Given the description of an element on the screen output the (x, y) to click on. 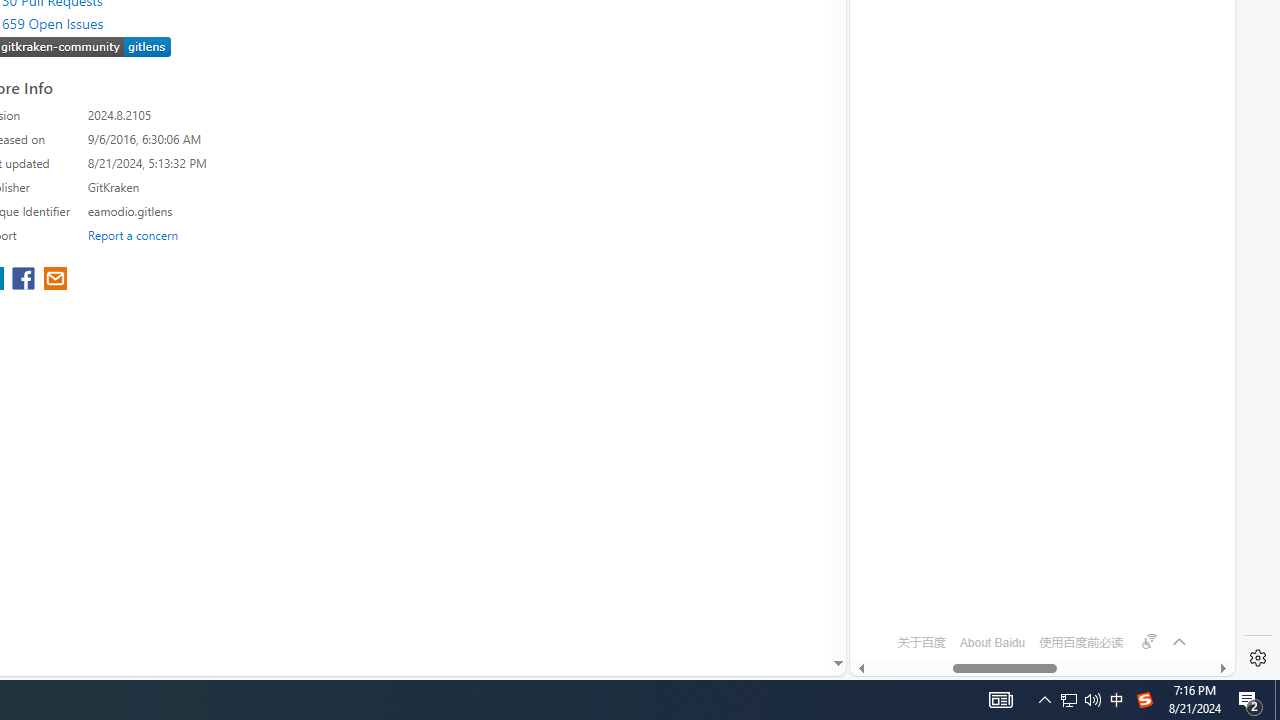
OFTV - Enjoy videos from your favorite OF creators! (1034, 604)
share extension on facebook (26, 280)
Report a concern (133, 234)
share extension on email (54, 280)
OFTV (1034, 587)
About Baidu (992, 642)
